Given the description of an element on the screen output the (x, y) to click on. 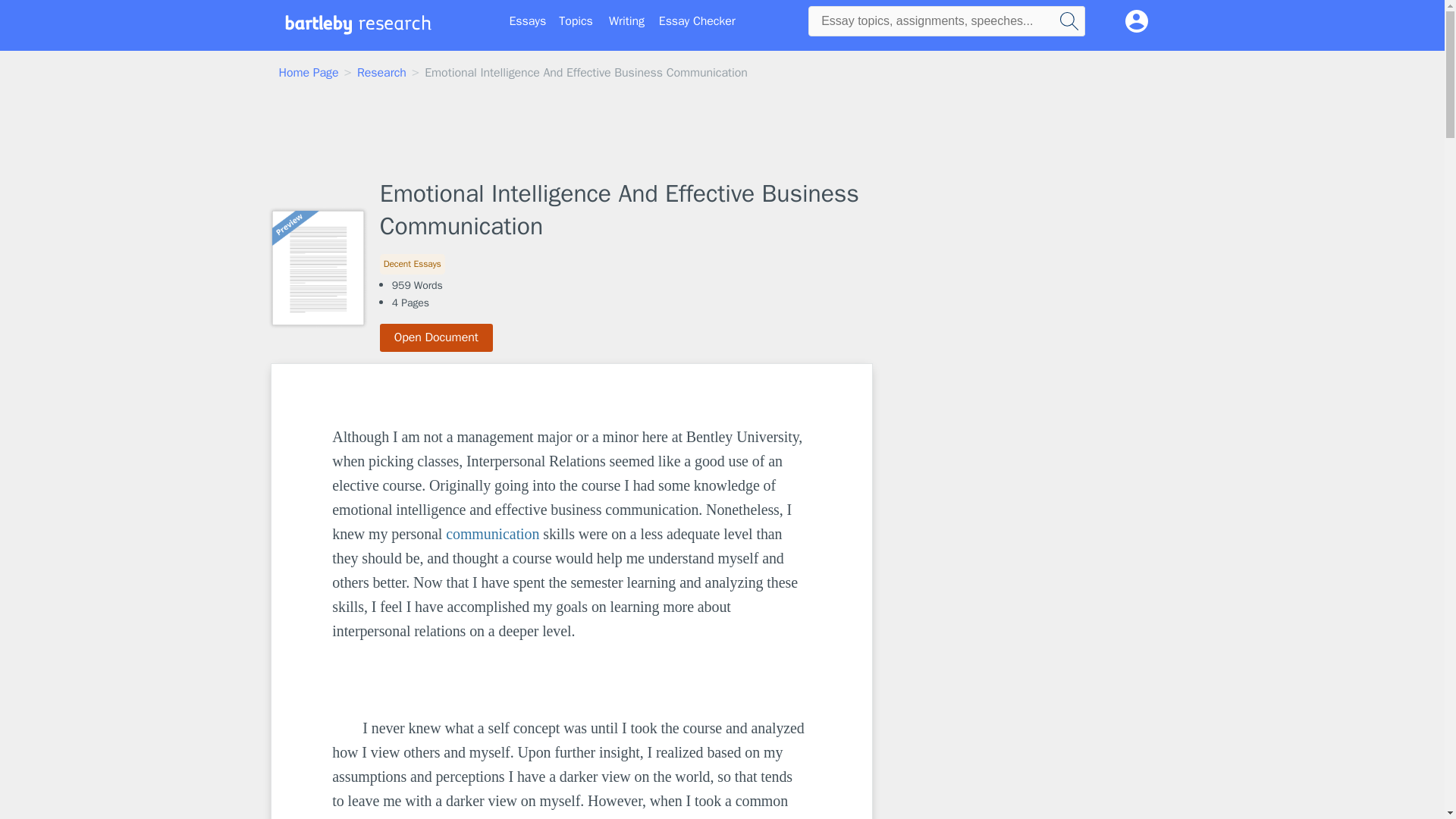
Research (381, 72)
Home Page (309, 72)
Open Document (436, 337)
communication (491, 533)
Essays (528, 20)
Writing (626, 20)
Topics (575, 20)
Essay Checker (697, 20)
